Given the description of an element on the screen output the (x, y) to click on. 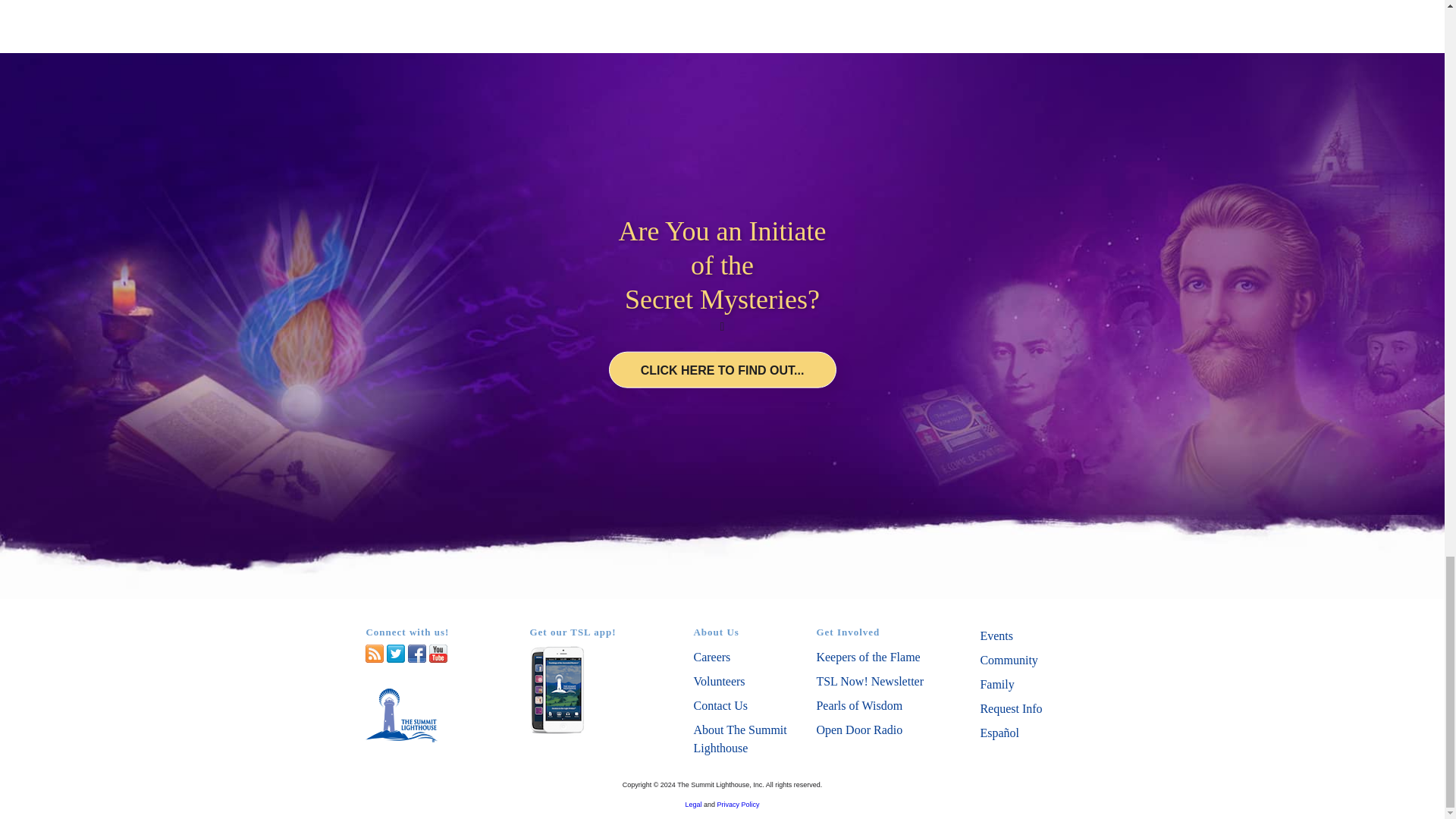
Subscribe for your monthly newsletter from TSL (869, 680)
